Given the description of an element on the screen output the (x, y) to click on. 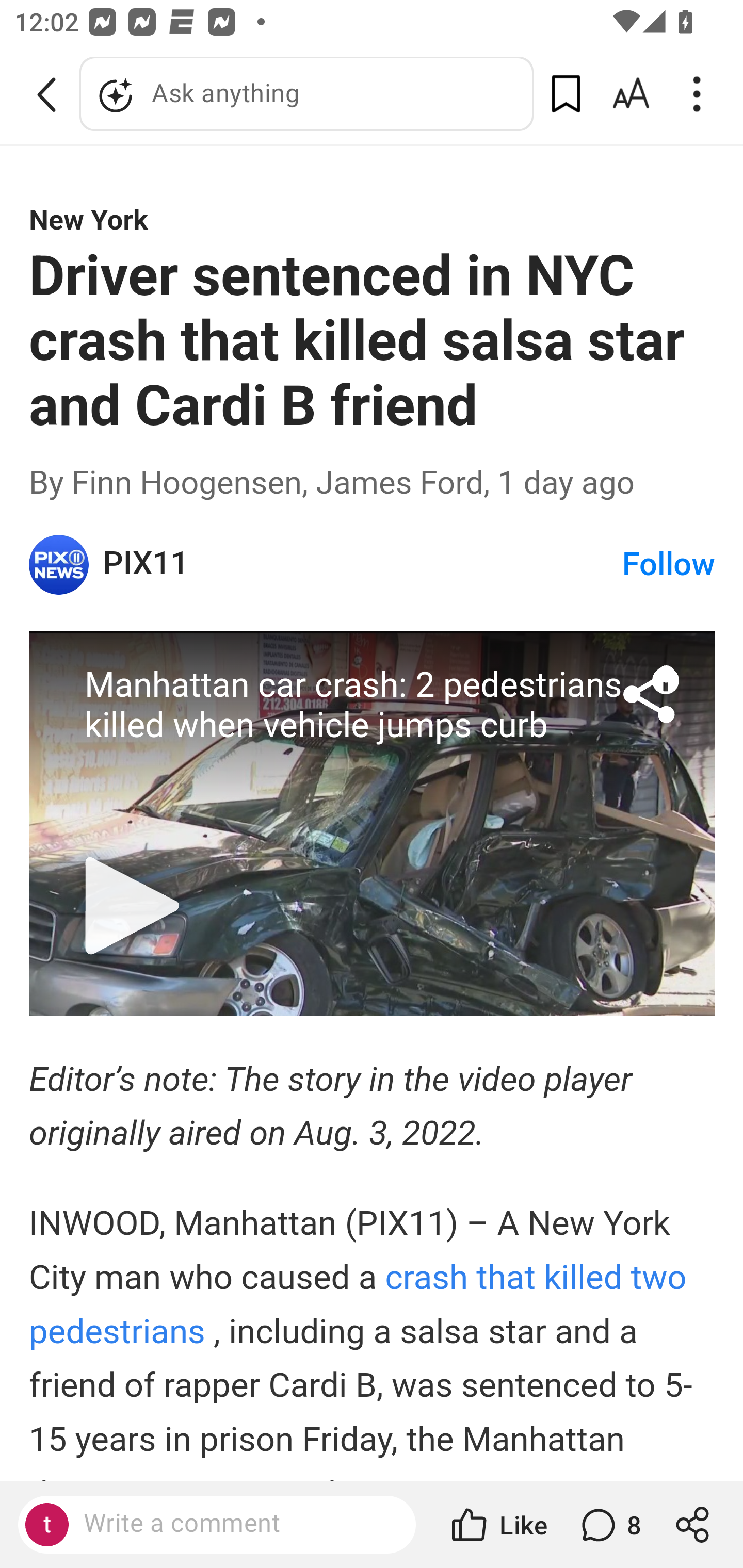
Ask anything (306, 93)
PIX11 (59, 564)
PIX11 (361, 564)
Follow (668, 564)
crash that killed two pedestrians  (358, 1303)
Like (497, 1524)
8 (608, 1524)
Write a comment (234, 1523)
